Given the description of an element on the screen output the (x, y) to click on. 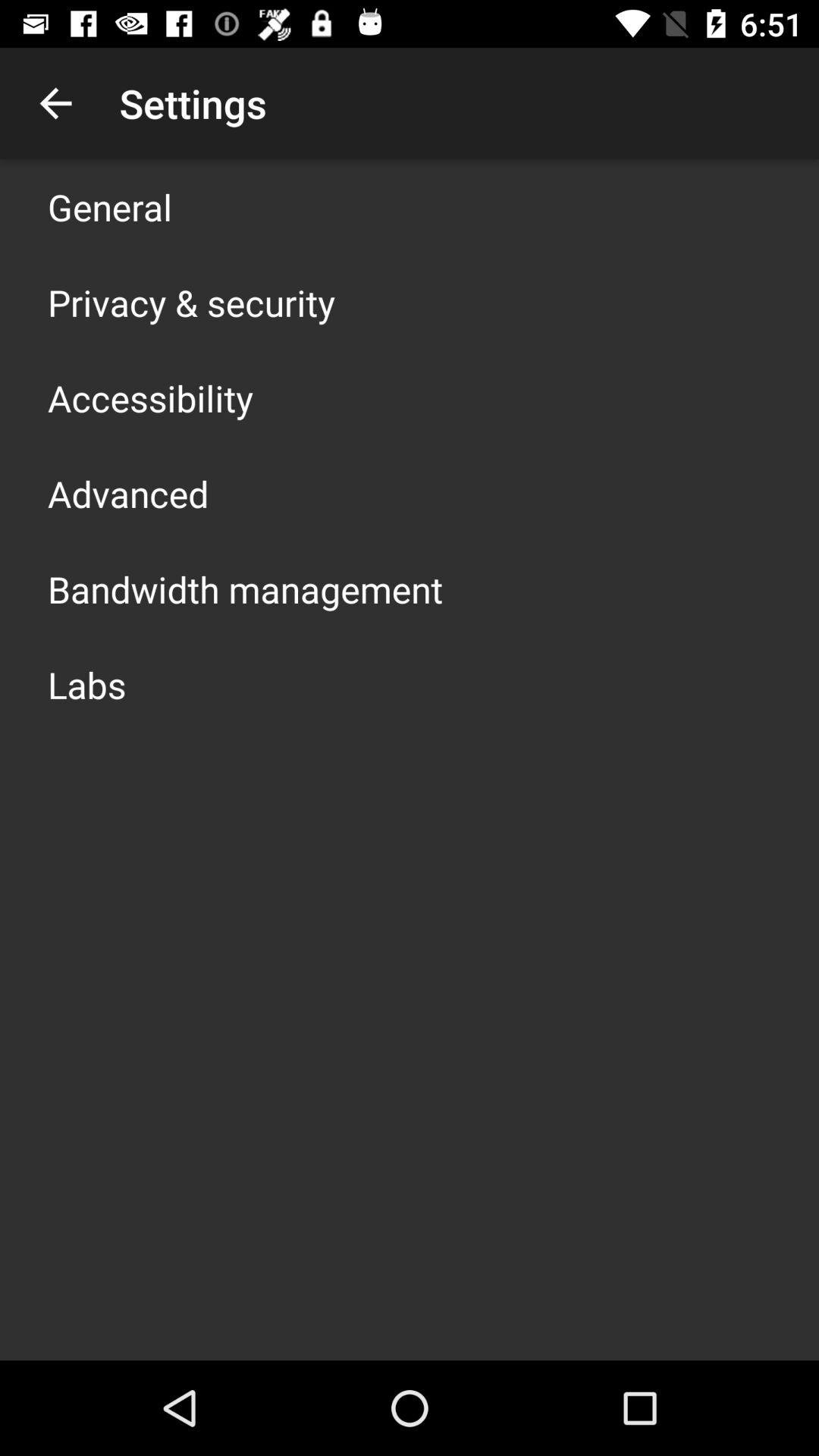
choose the item below the accessibility (127, 493)
